Given the description of an element on the screen output the (x, y) to click on. 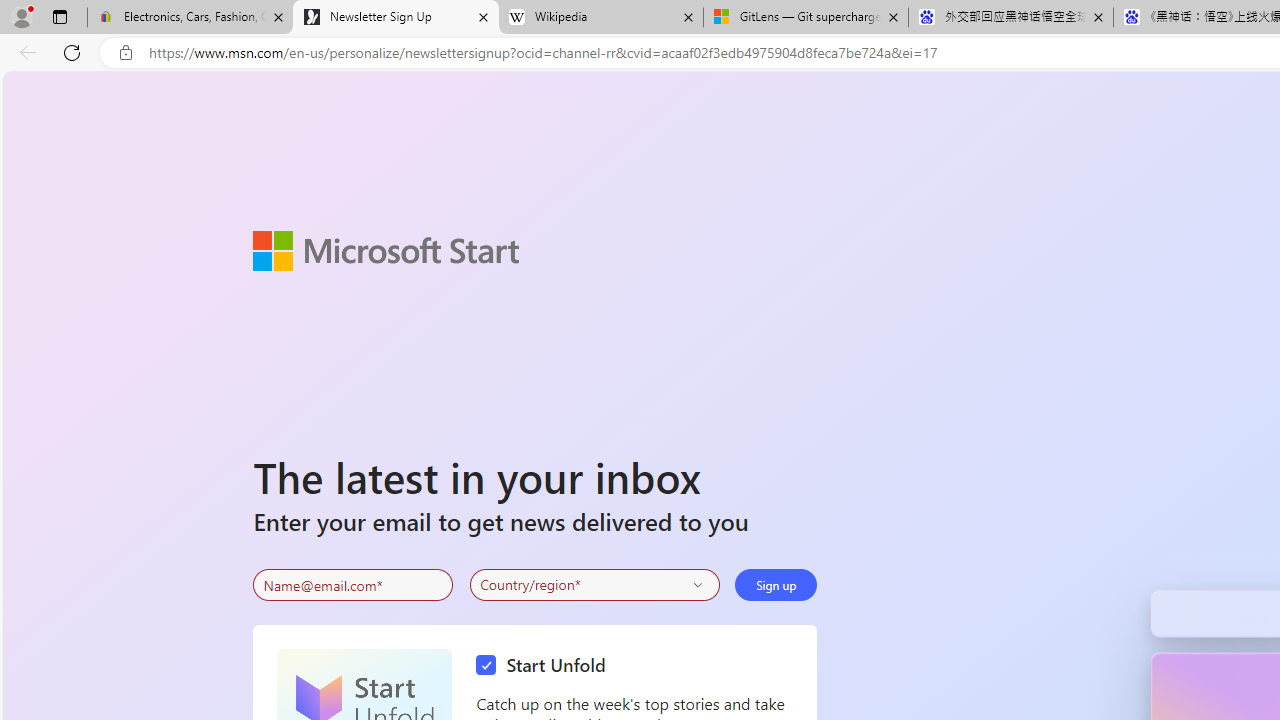
Back (24, 52)
Enter your email (353, 585)
Refresh (72, 52)
Close tab (1098, 16)
Tab actions menu (59, 16)
Sign up (775, 584)
Electronics, Cars, Fashion, Collectibles & More | eBay (190, 17)
Select your country (594, 584)
Start Unfold (545, 665)
View site information (125, 53)
Microsoft Start (385, 249)
Wikipedia (600, 17)
